Given the description of an element on the screen output the (x, y) to click on. 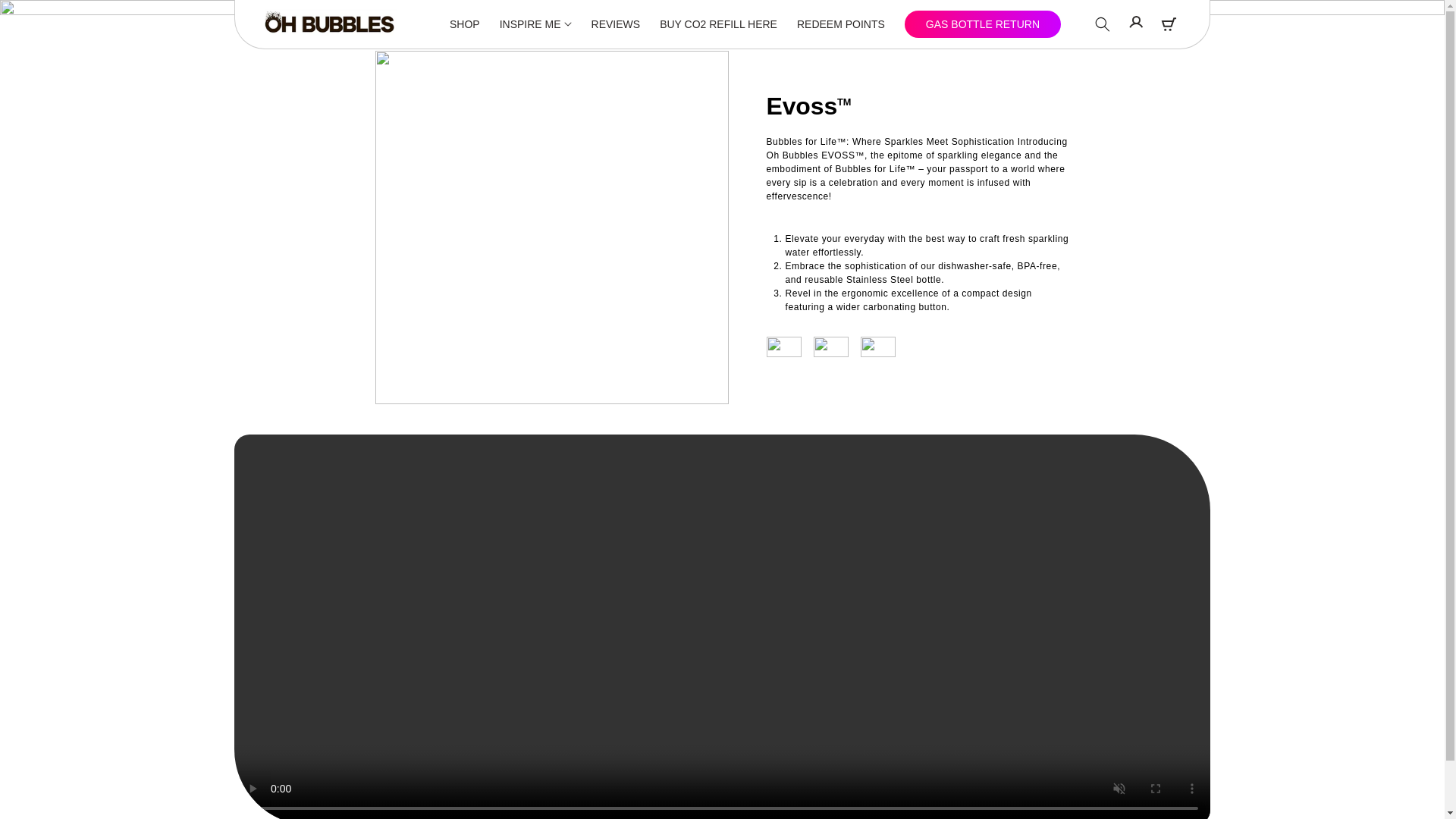
GAS BOTTLE RETURN (982, 23)
SHOP (464, 23)
REVIEWS (615, 23)
REDEEM POINTS (840, 23)
BUY CO2 REFILL HERE (718, 23)
